Given the description of an element on the screen output the (x, y) to click on. 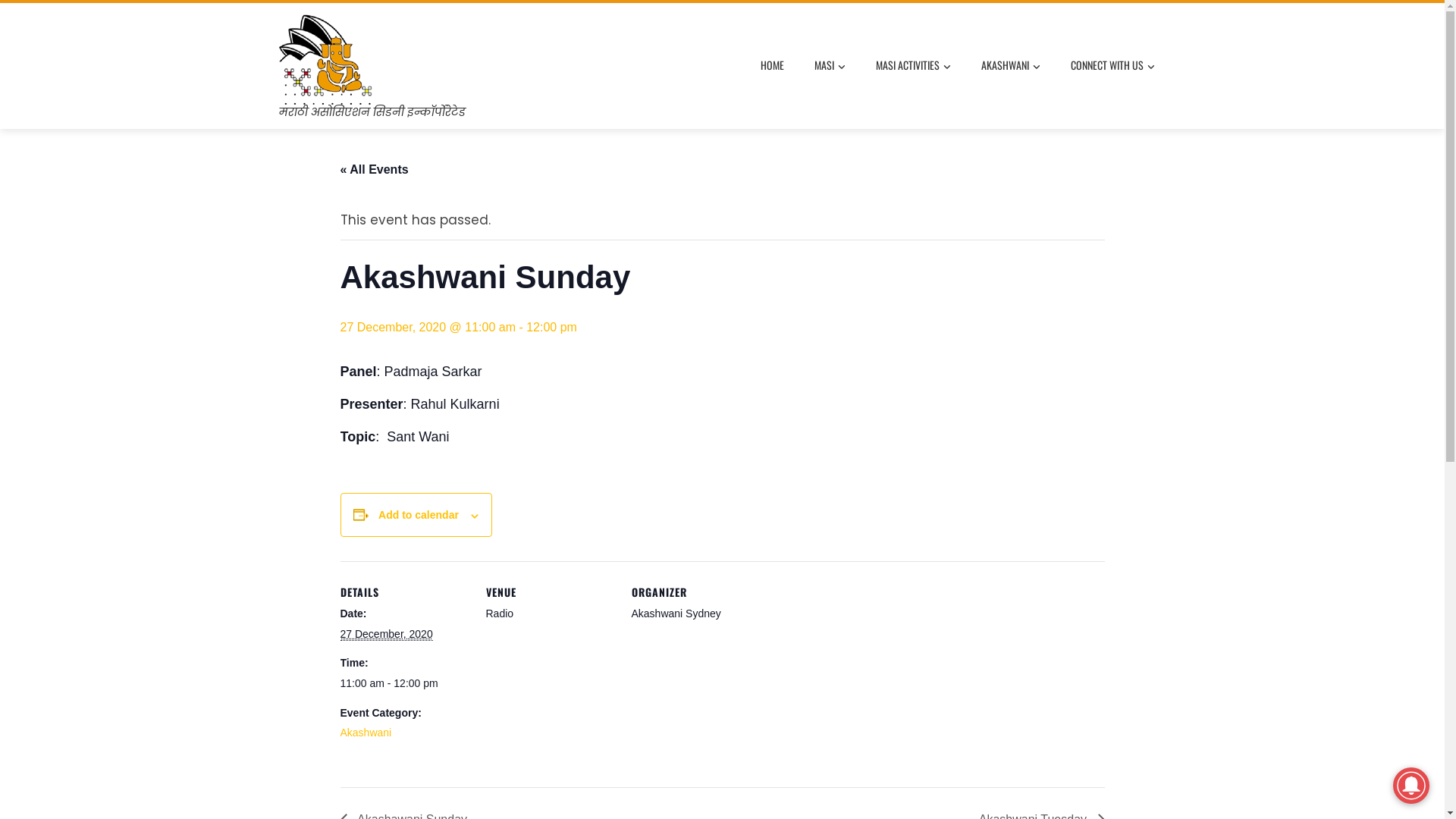
AKASHWANI Element type: text (1010, 65)
Akashwani Element type: text (365, 732)
MASI ACTIVITIES Element type: text (913, 65)
CONNECT WITH US Element type: text (1111, 65)
Add to calendar Element type: text (418, 514)
HOME Element type: text (772, 64)
MASI Element type: text (829, 65)
